Given the description of an element on the screen output the (x, y) to click on. 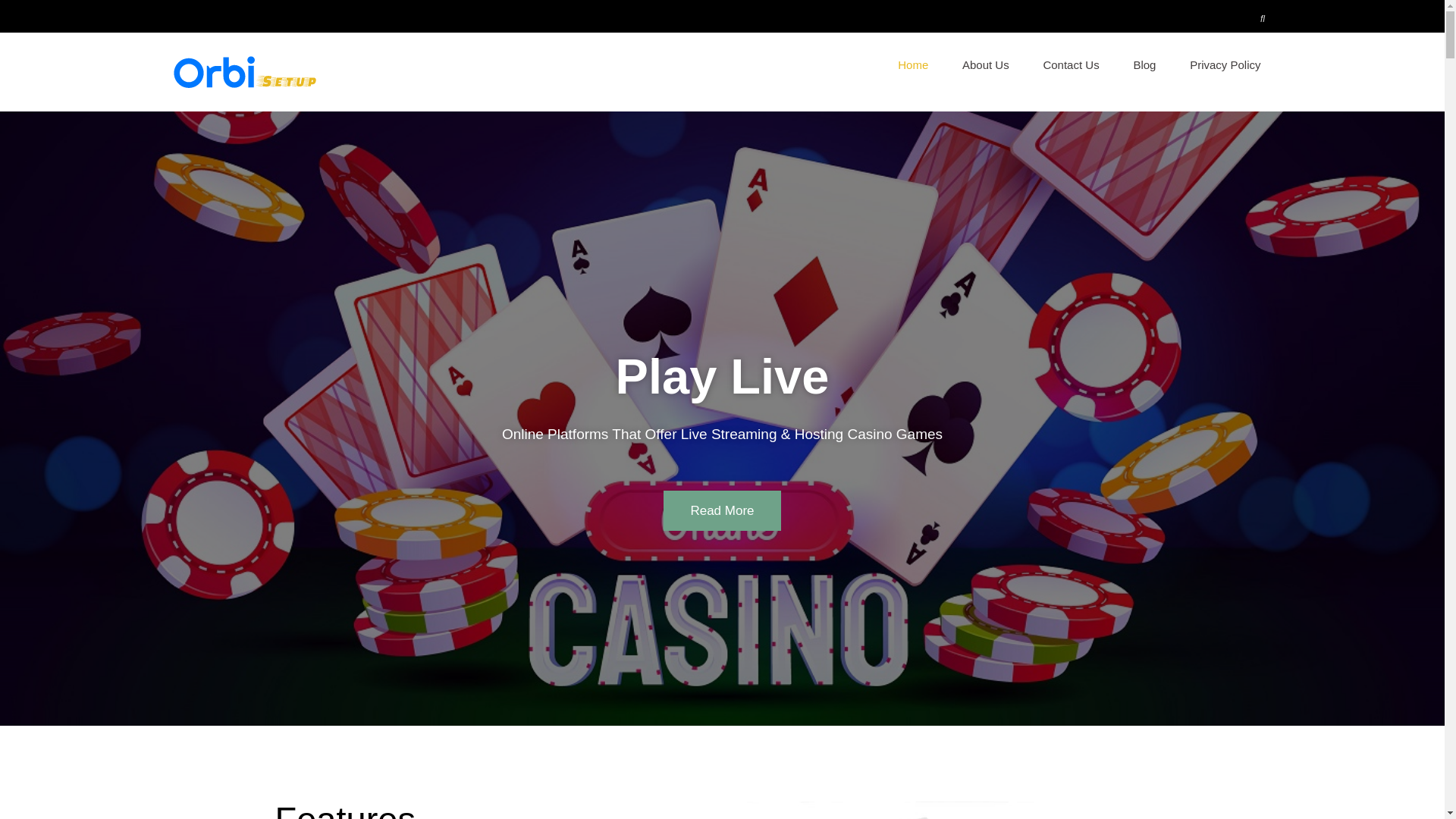
Read More (721, 510)
About Us (986, 64)
Orbi-Setup (371, 74)
Privacy Policy (1224, 64)
Blog (1144, 64)
Contact Us (1070, 64)
Home (912, 64)
